Given the description of an element on the screen output the (x, y) to click on. 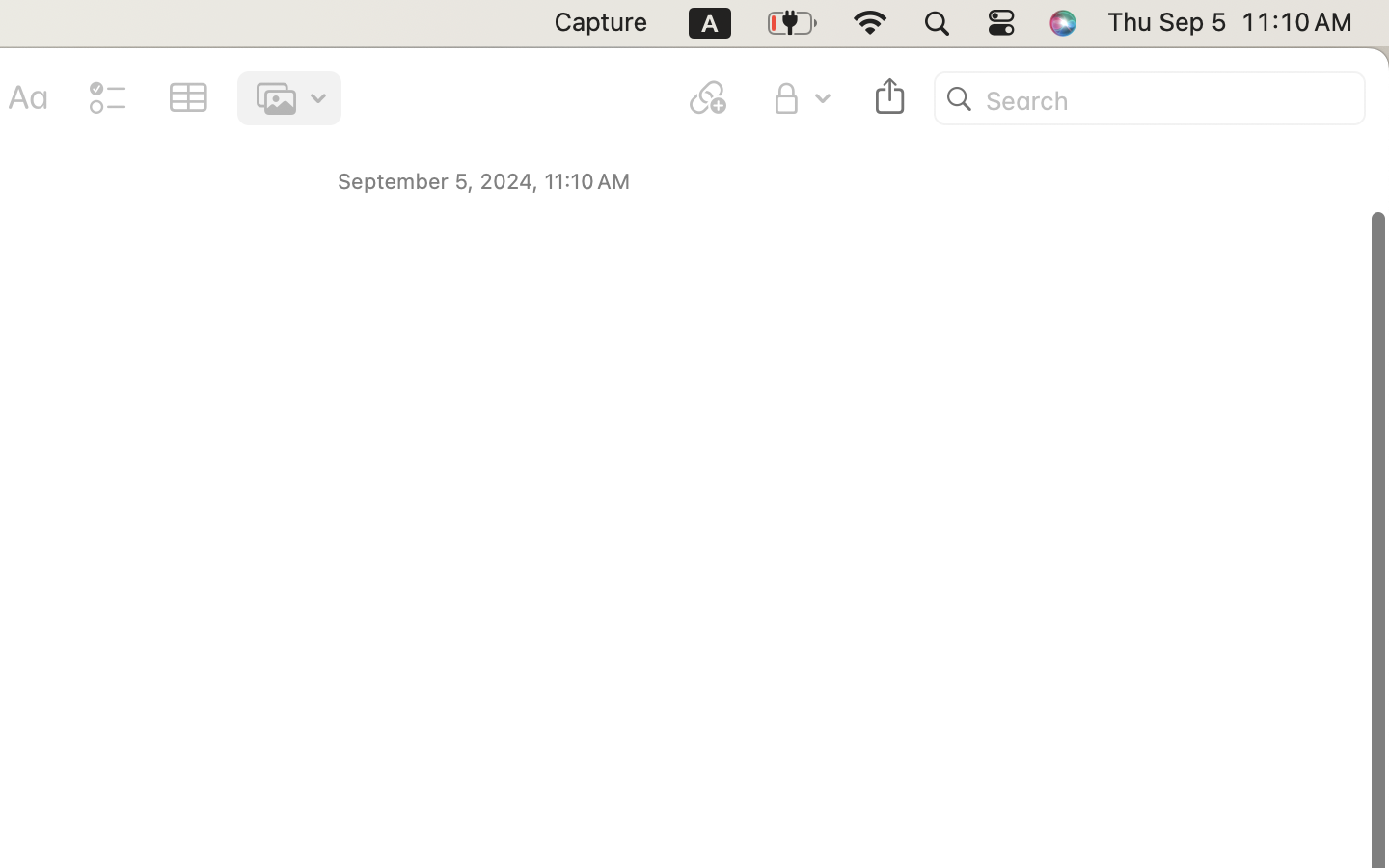
Locked Notes Element type: AXStaticText (768, 412)
Notes with Drawings Element type: AXStaticText (768, 539)
Notes with Scanned Documents Element type: AXStaticText (768, 582)
Notes with Checklists Element type: AXStaticText (768, 454)
Notes with Tags Element type: AXStaticText (768, 497)
